Given the description of an element on the screen output the (x, y) to click on. 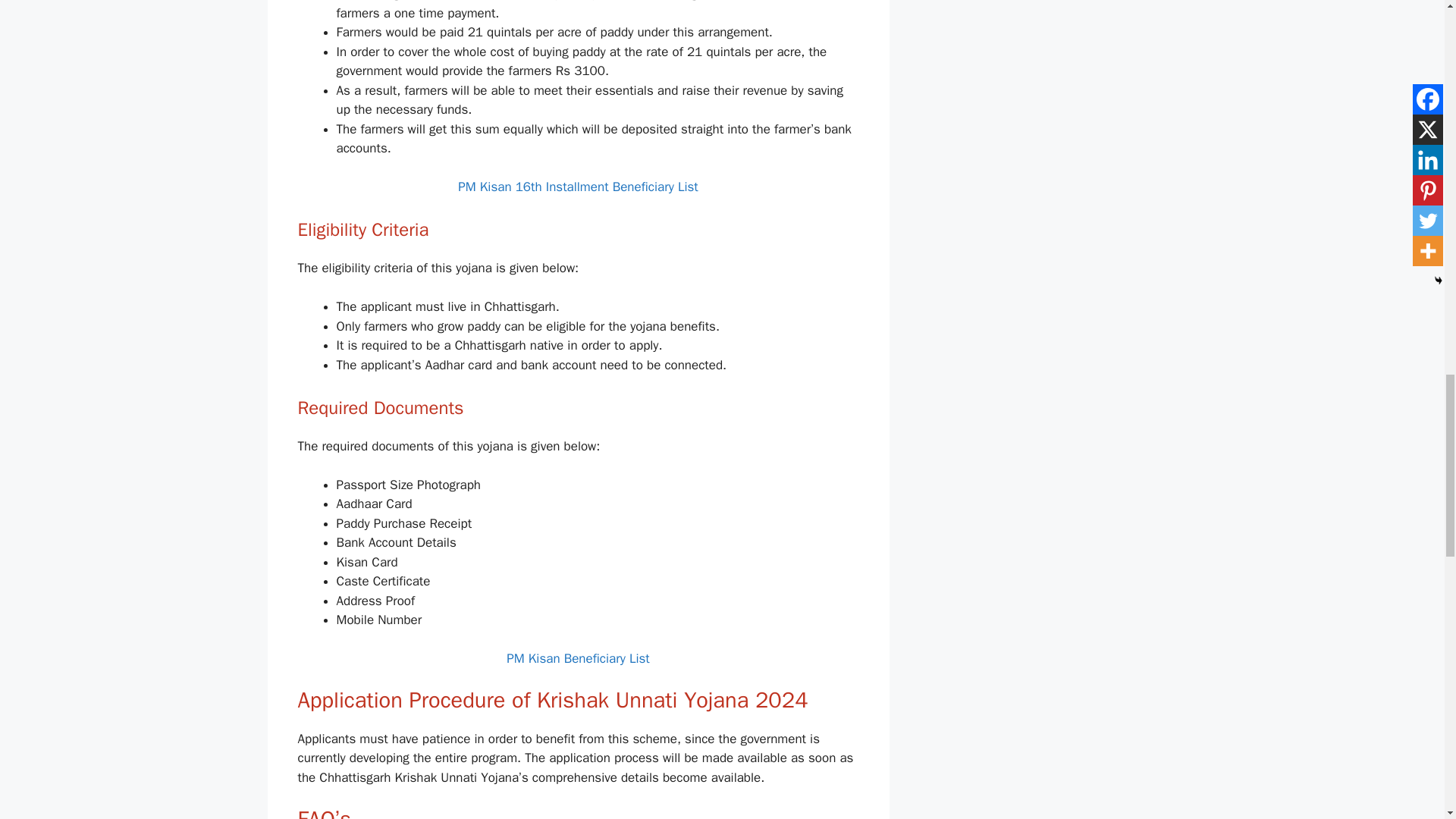
PM Kisan 16th Installment Beneficiary List (577, 186)
PM Kisan Beneficiary List (577, 658)
